Given the description of an element on the screen output the (x, y) to click on. 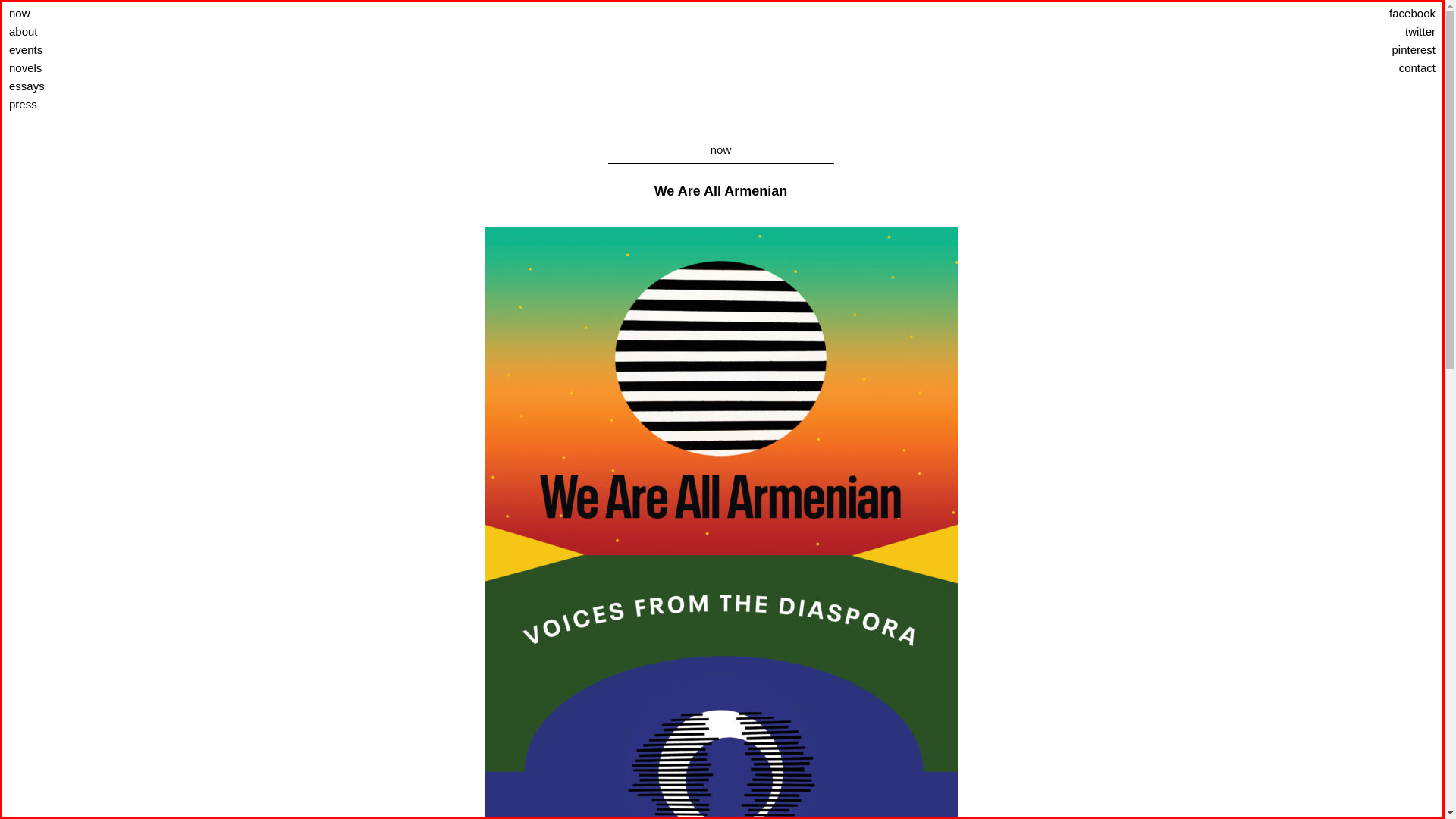
press (60, 104)
now (60, 13)
pinterest (1382, 49)
novels (719, 151)
twitter (1382, 31)
novels (60, 67)
essays (60, 85)
Nancy Kricorian (720, 65)
facebook (1382, 13)
contact (1382, 67)
